Given the description of an element on the screen output the (x, y) to click on. 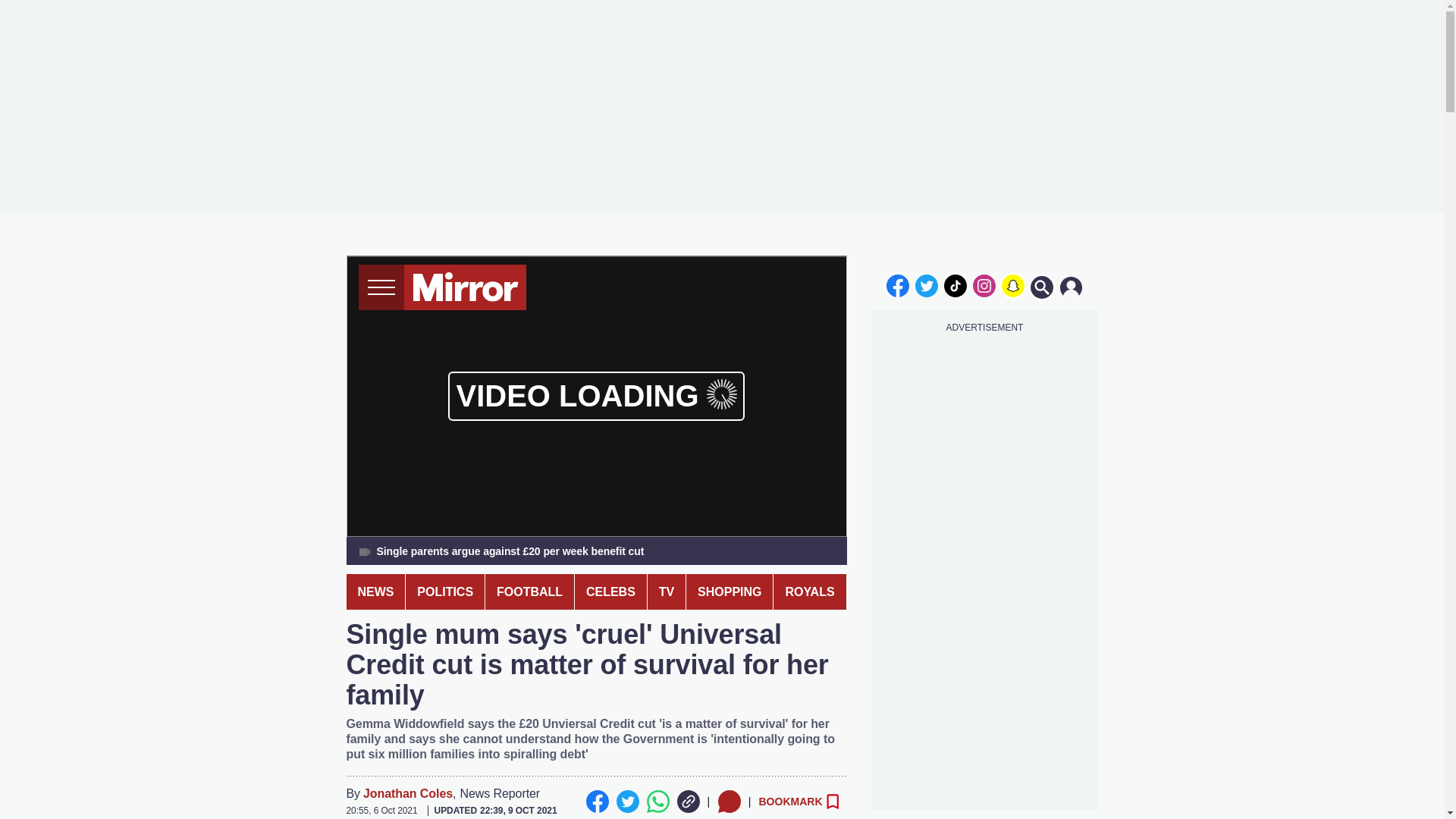
tiktok (955, 285)
Twitter (627, 801)
twitter (926, 285)
NEWS (375, 591)
Facebook (596, 801)
POLITICS (445, 591)
instagram (984, 285)
snapchat (1012, 285)
FOOTBALL (528, 591)
facebook (897, 285)
